Given the description of an element on the screen output the (x, y) to click on. 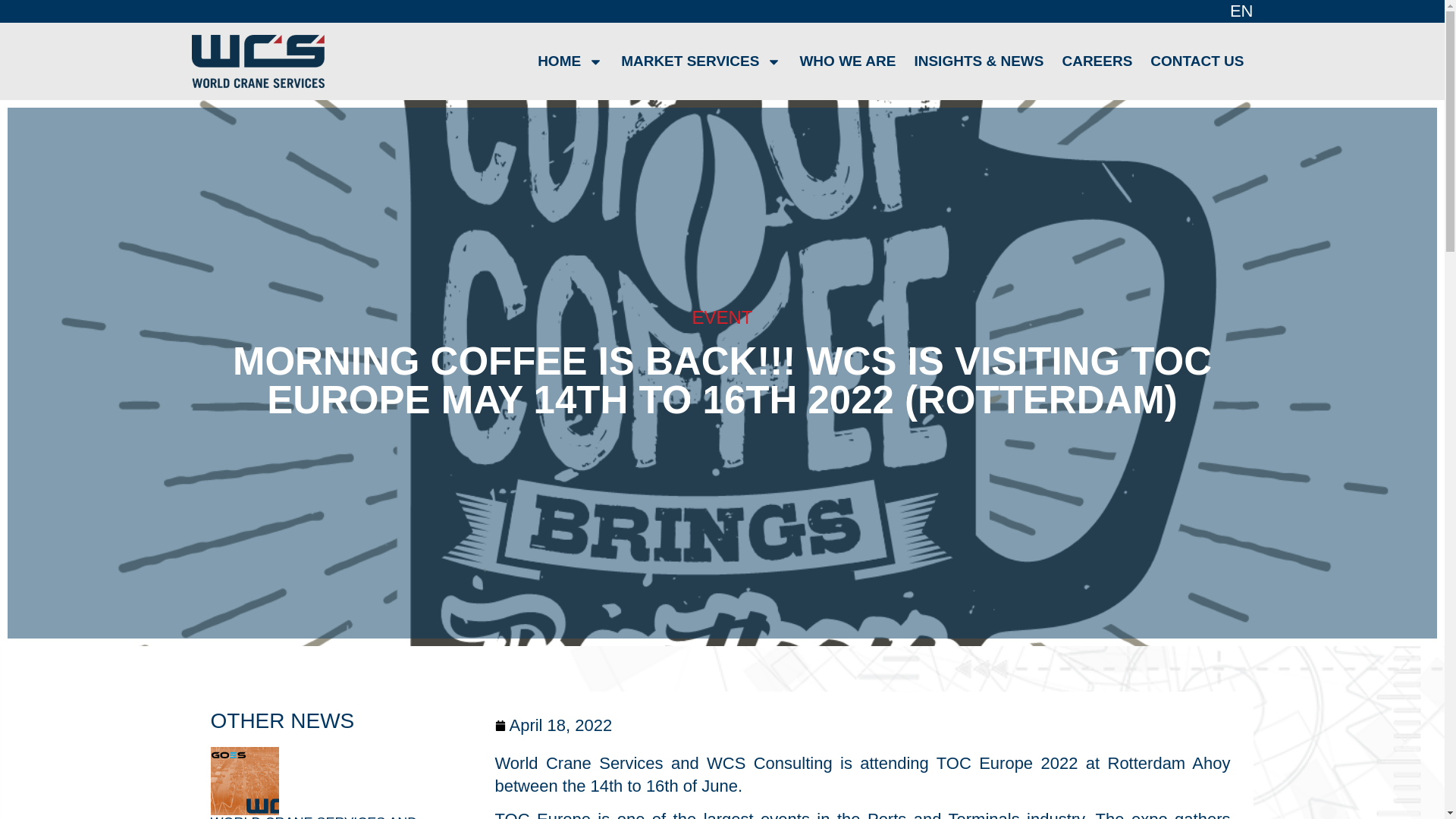
WHO WE ARE (847, 60)
HOME (569, 60)
MARKET SERVICES (700, 60)
CONTACT US (1196, 60)
CAREERS (1096, 60)
